Given the description of an element on the screen output the (x, y) to click on. 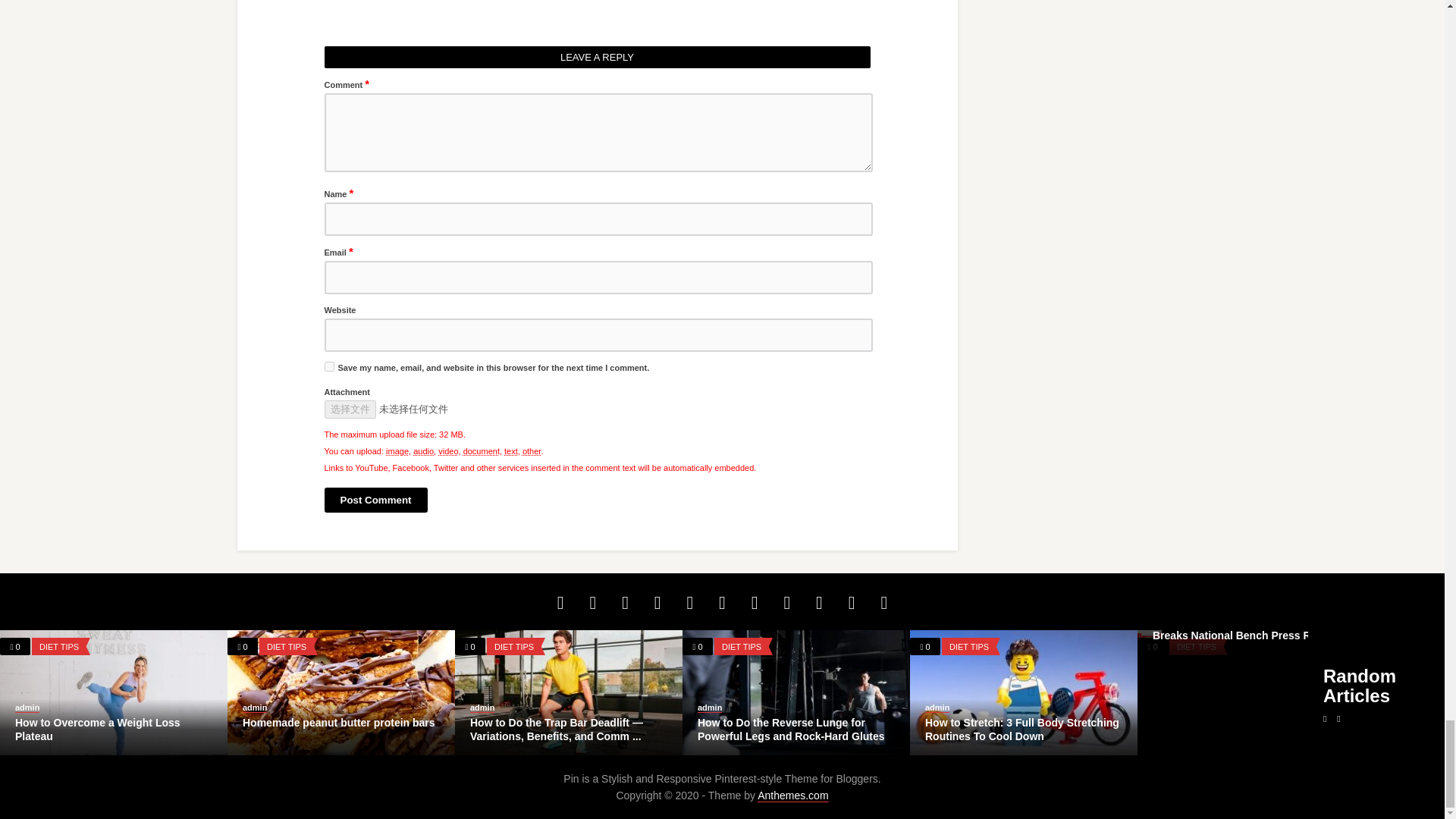
3gp, 3gpp, 3g2 (448, 450)
jpg, jpeg, jpe, gif, png, bmp, tiff, tif, webp, ico, heic (397, 450)
yes (329, 366)
txt, asc (510, 450)
Post Comment (376, 499)
psd, xcf, oxps, xps (481, 450)
aac, flac (423, 450)
3gp2, c, cc, h, srt, vtt, dfxp (531, 450)
